Given the description of an element on the screen output the (x, y) to click on. 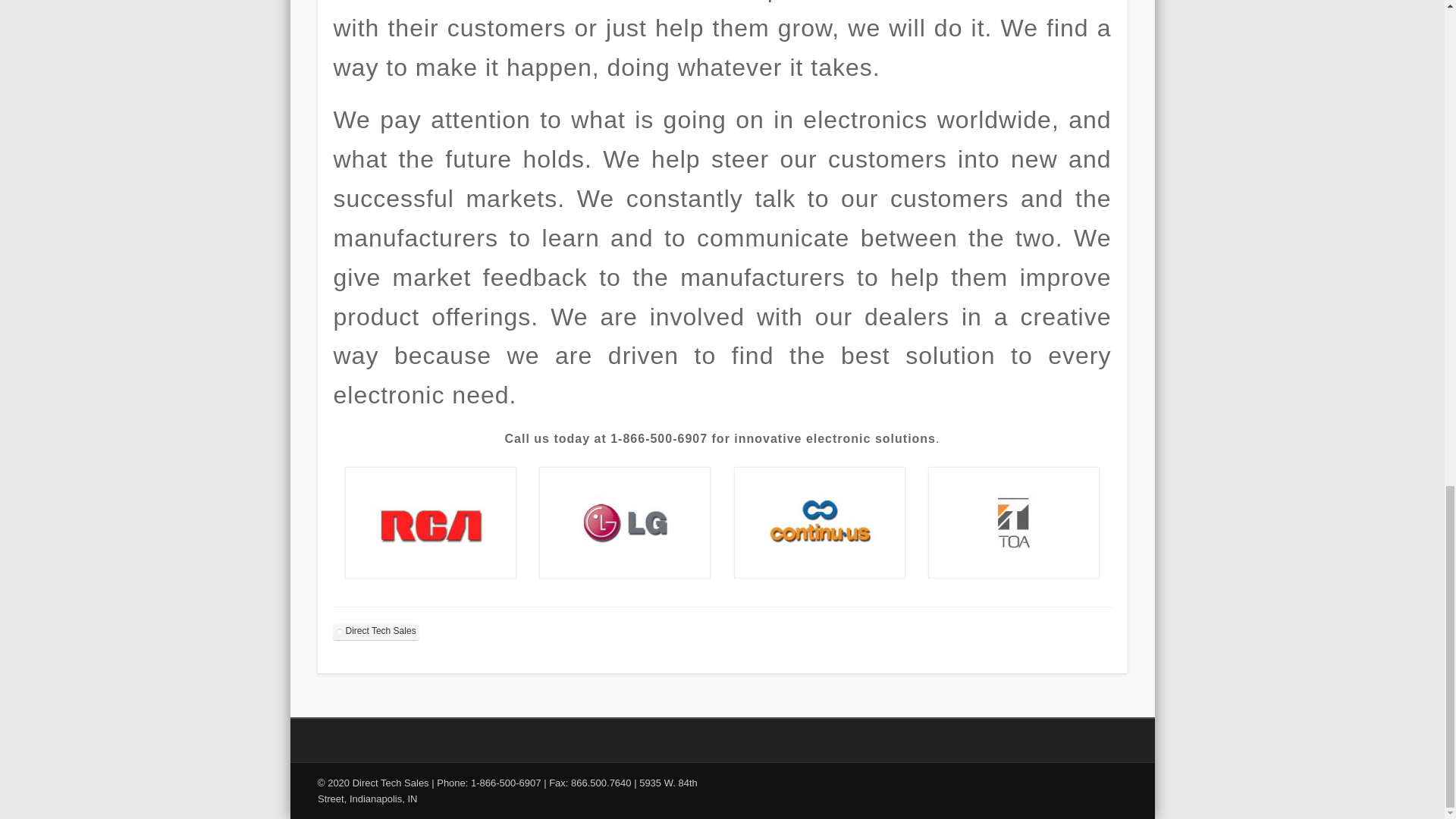
Direct Tech Sales (376, 630)
